Given the description of an element on the screen output the (x, y) to click on. 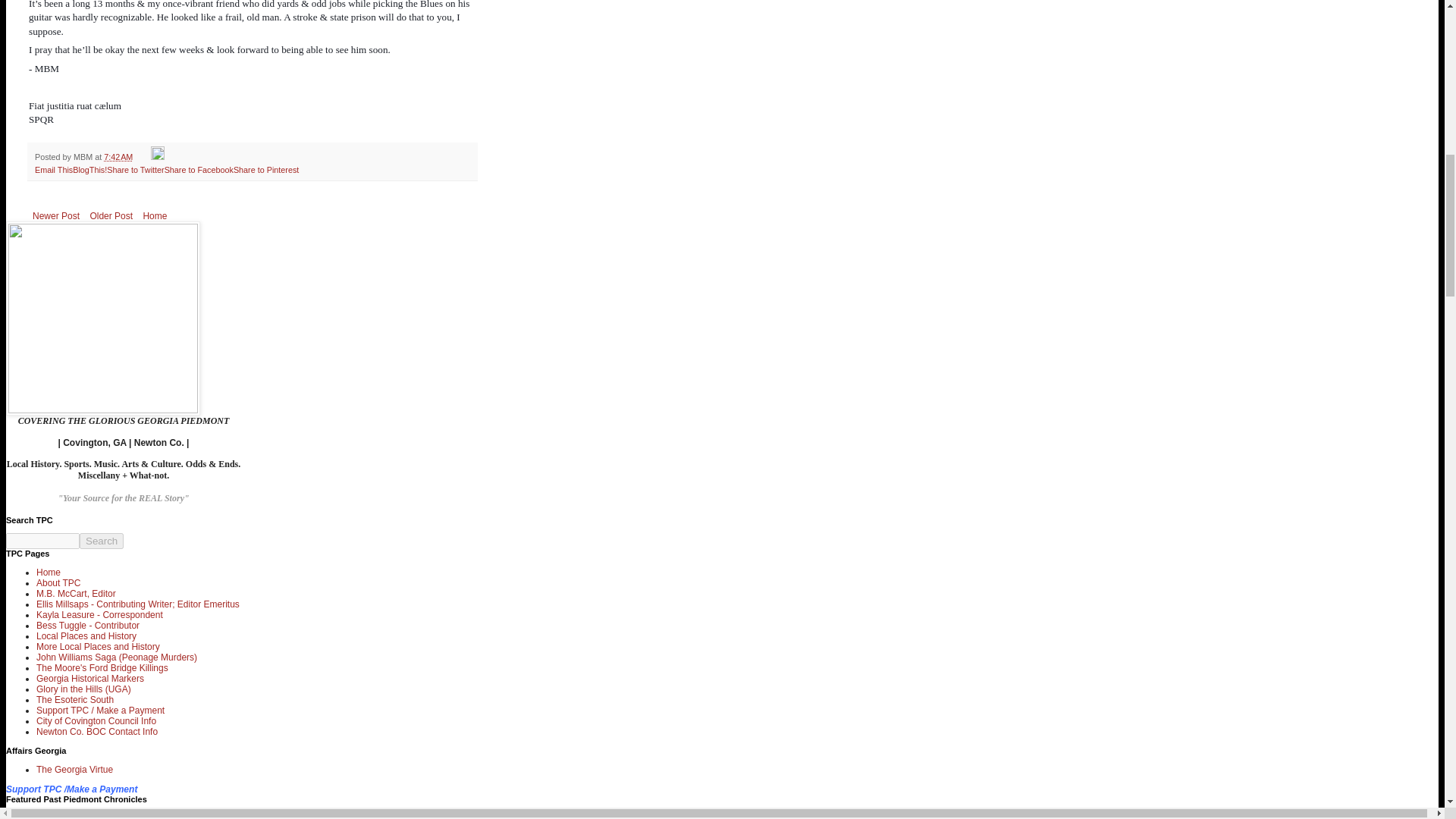
Share to Twitter (134, 169)
Email This (53, 169)
Home (154, 216)
Older Post (110, 216)
Search (101, 540)
Share to Pinterest (265, 169)
Older Post (110, 216)
Kayla Leasure - Correspondent (99, 614)
BlogThis! (89, 169)
Share to Facebook (198, 169)
City of Covington Council Info (95, 720)
Share to Pinterest (265, 169)
Share to Twitter (134, 169)
Email This (53, 169)
The Georgia Virtue (74, 769)
